Given the description of an element on the screen output the (x, y) to click on. 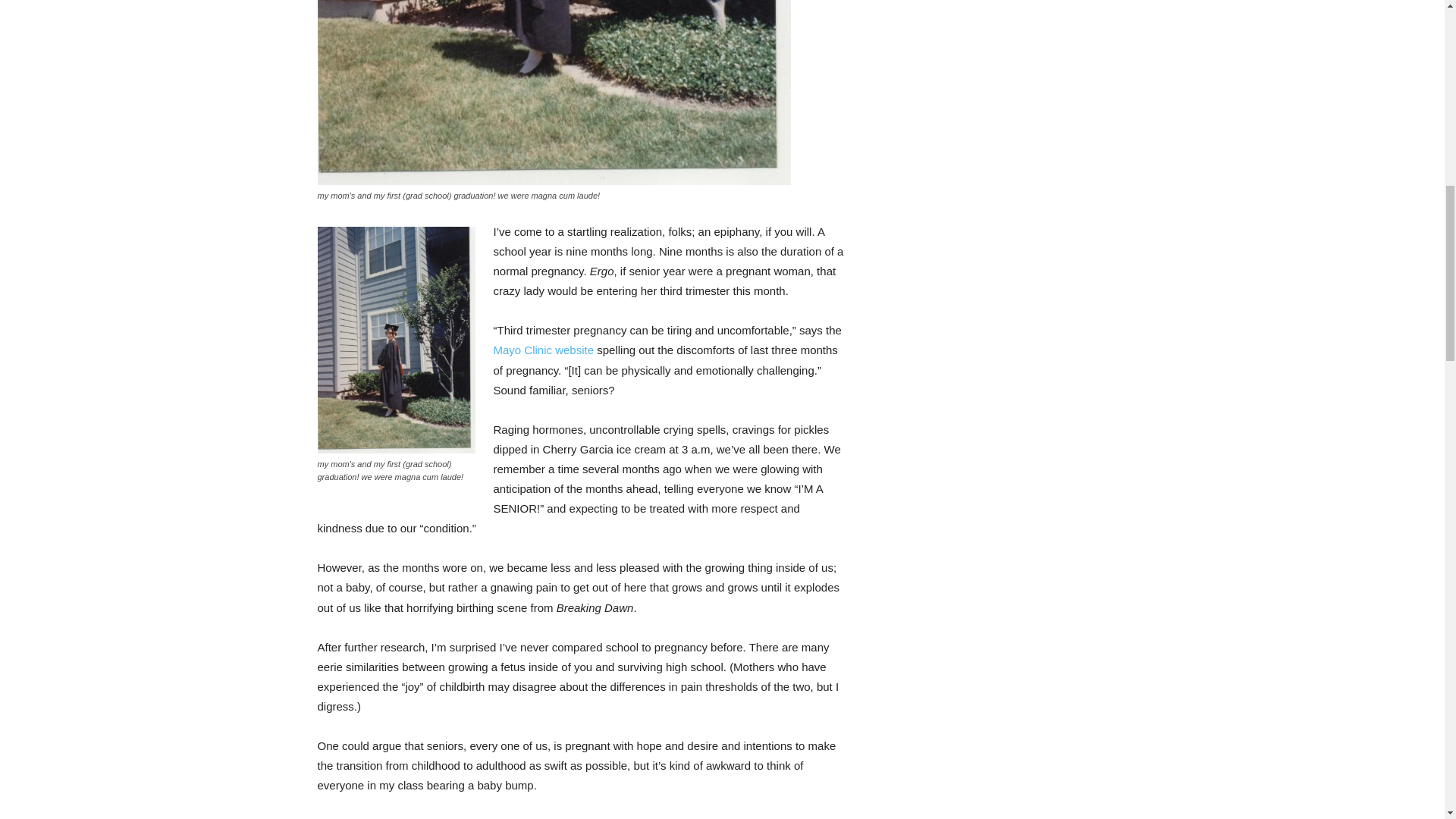
fluffyspregnanymommy (553, 92)
